Given the description of an element on the screen output the (x, y) to click on. 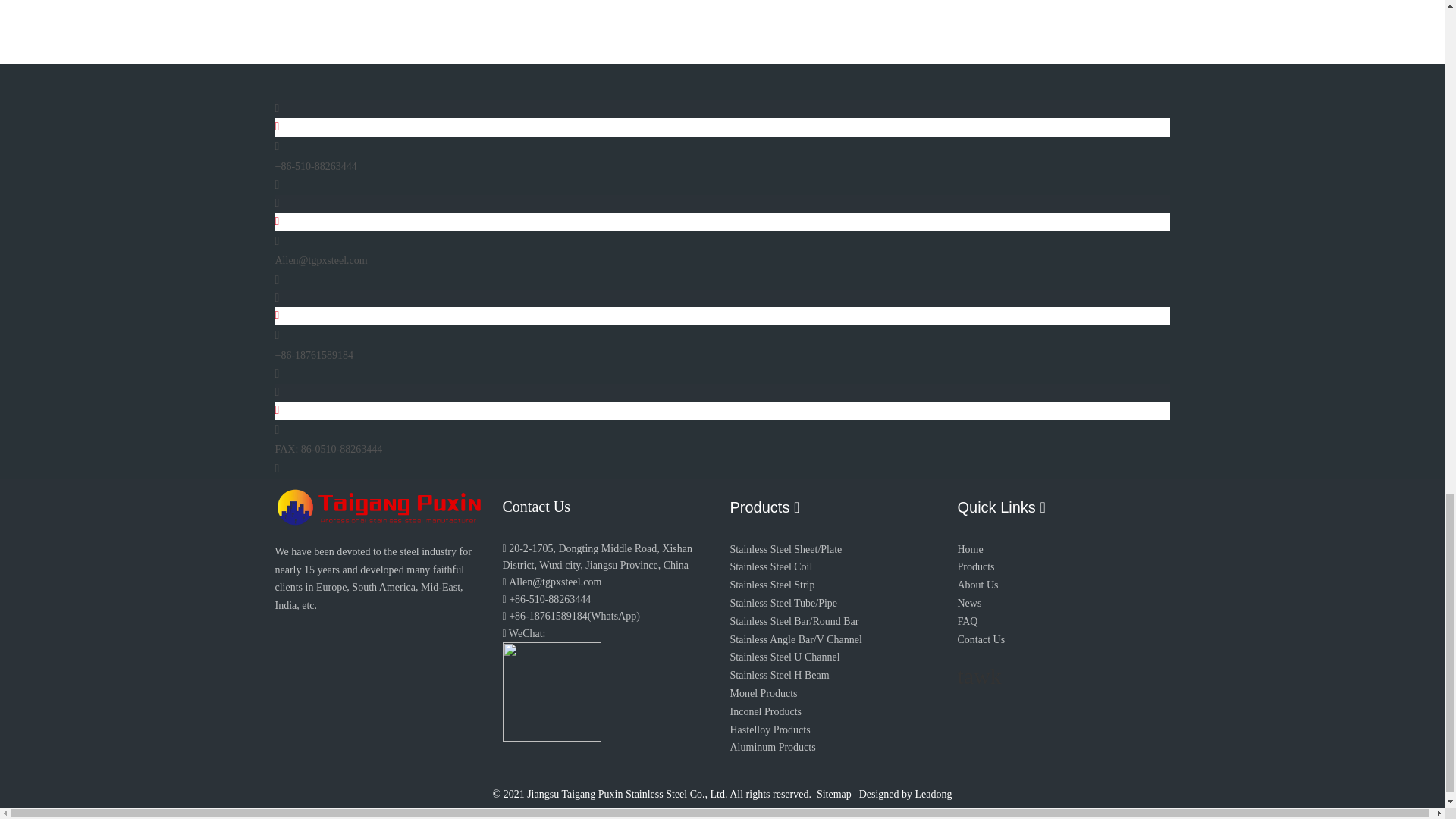
FAX: 86-0510-88263444 (328, 449)
Stainless Steel Coil (770, 566)
Monel Products (762, 693)
Stainless Steel H Beam (778, 674)
Stainless Steel Strip (771, 584)
Stainless Steel Coil (770, 566)
Stainless Steel U Channel (784, 656)
Stainless Steel Strip (771, 584)
